Given the description of an element on the screen output the (x, y) to click on. 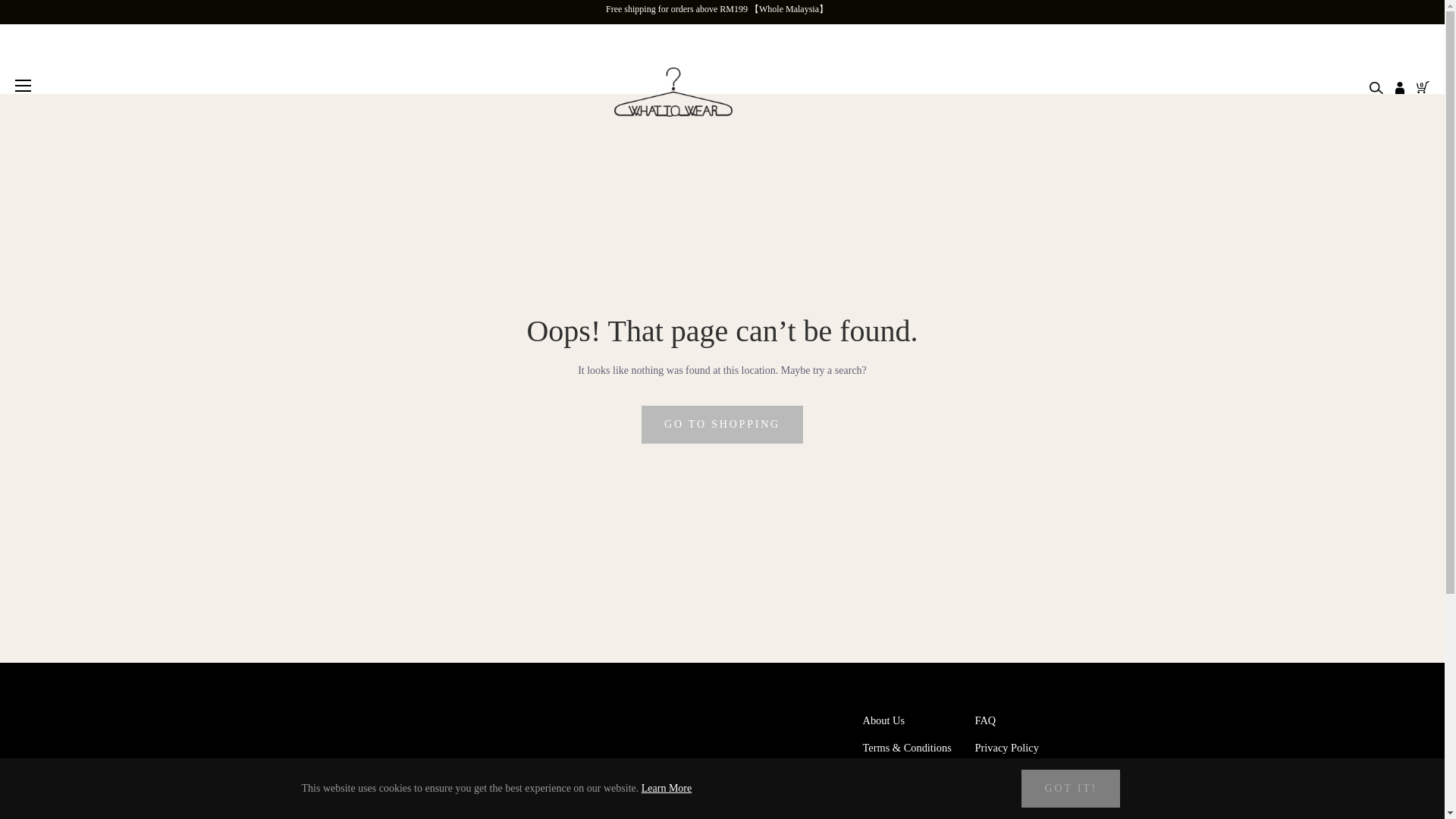
Shopping Cart (1417, 87)
About Us (884, 720)
Privacy Policy (1007, 747)
FAQ (985, 720)
GO TO SHOPPING (722, 424)
